Given the description of an element on the screen output the (x, y) to click on. 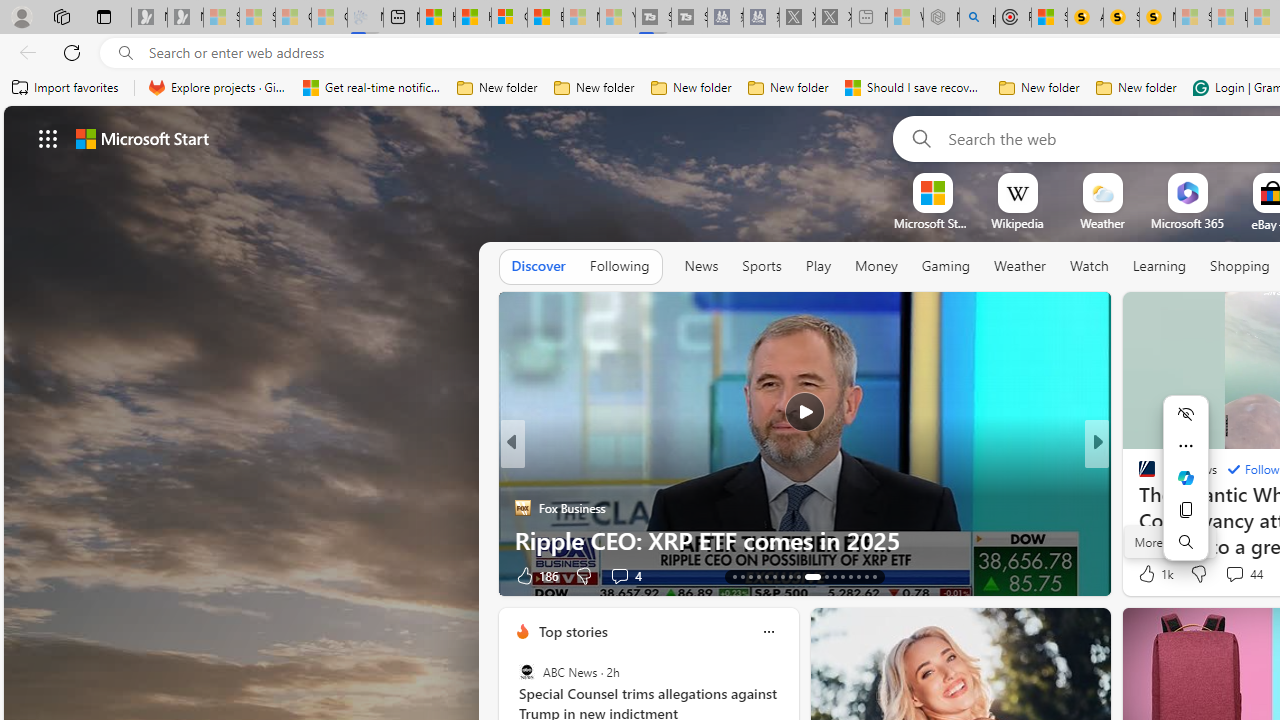
Money (875, 265)
AutomationID: tab-17 (765, 576)
AutomationID: tab-20 (789, 576)
Microsoft start (142, 138)
AutomationID: tab-21 (797, 576)
Personal Profile (21, 16)
